Given the description of an element on the screen output the (x, y) to click on. 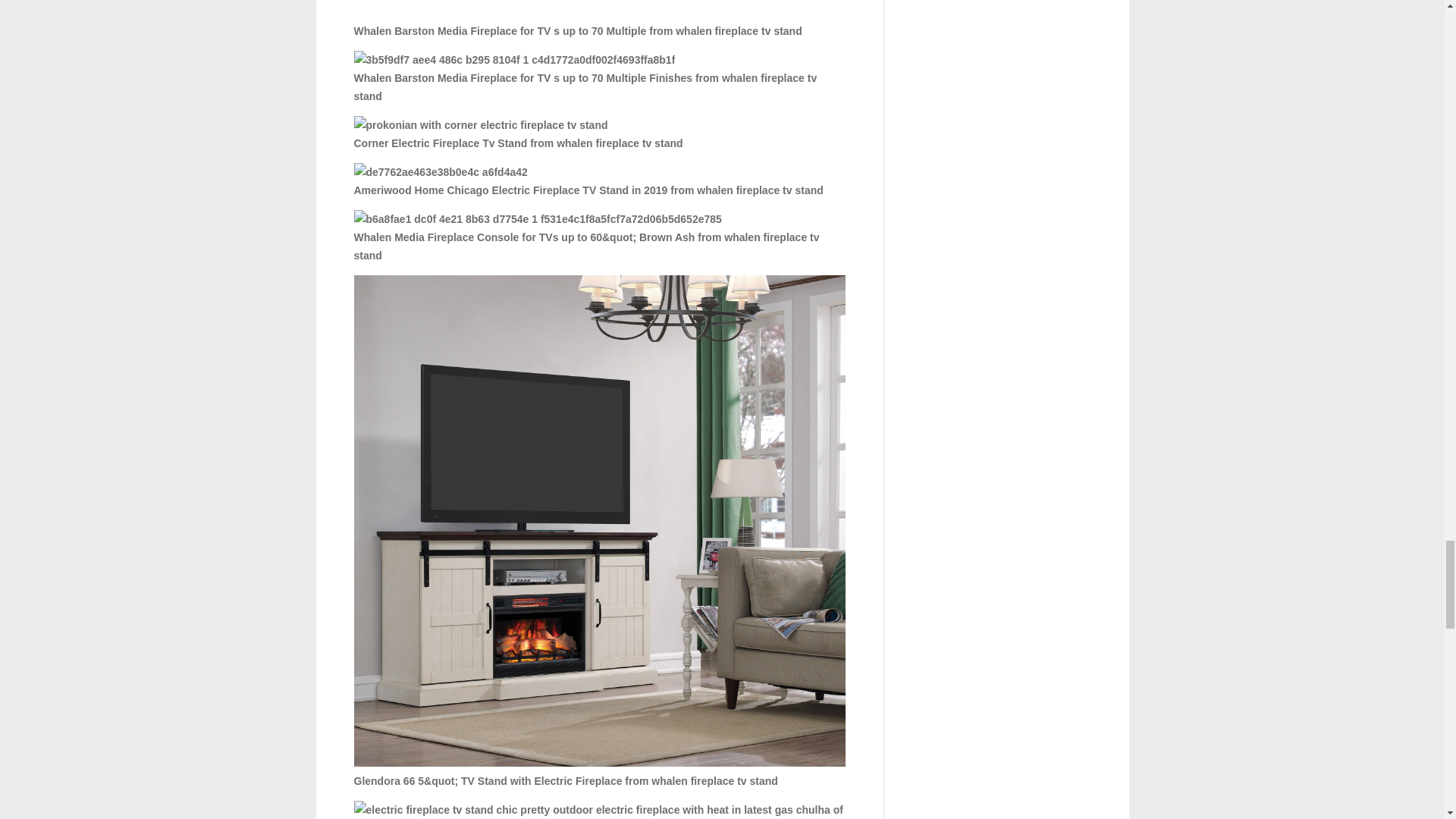
35 Minimaliste Electric Fireplace Tv Stand (598, 809)
Whalen Barston Media Fireplace for TV s up to 70 Multiple (598, 8)
Corner Electric Fireplace Tv Stand (480, 125)
Whalen Media Fireplace Console for TVs up to 60" Brown Ash (536, 218)
Ameriwood Home Chicago Electric Fireplace TV Stand in 2019 (440, 171)
